Given the description of an element on the screen output the (x, y) to click on. 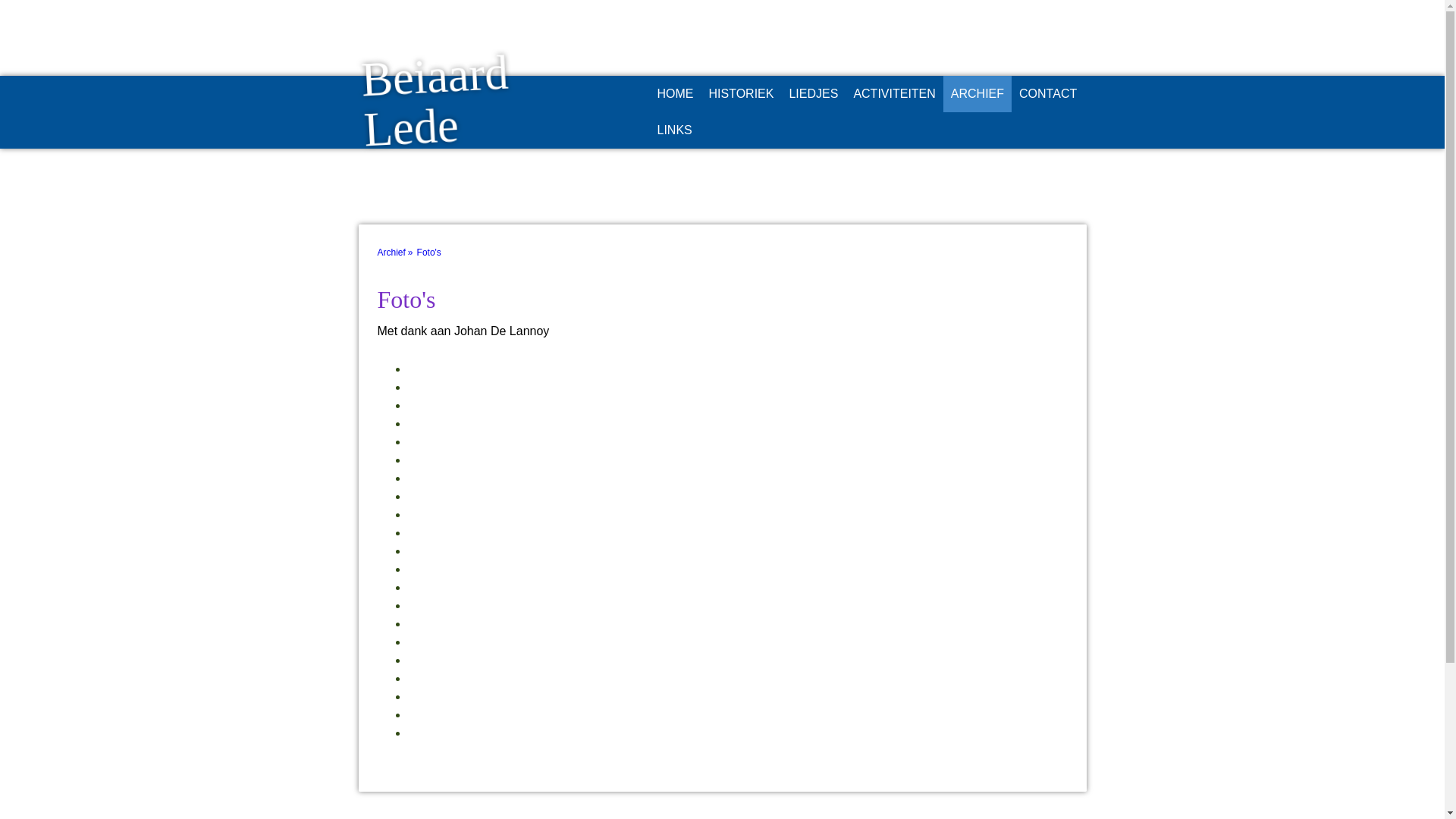
ARCHIEF Element type: text (977, 93)
HISTORIEK Element type: text (740, 93)
ACTIVITEITEN Element type: text (893, 93)
Foto's Element type: text (432, 252)
Archief Element type: text (397, 252)
LINKS Element type: text (674, 130)
LIEDJES Element type: text (813, 93)
Beiaard Lede Element type: text (472, 144)
HOME Element type: text (674, 93)
CONTACT Element type: text (1047, 93)
